Given the description of an element on the screen output the (x, y) to click on. 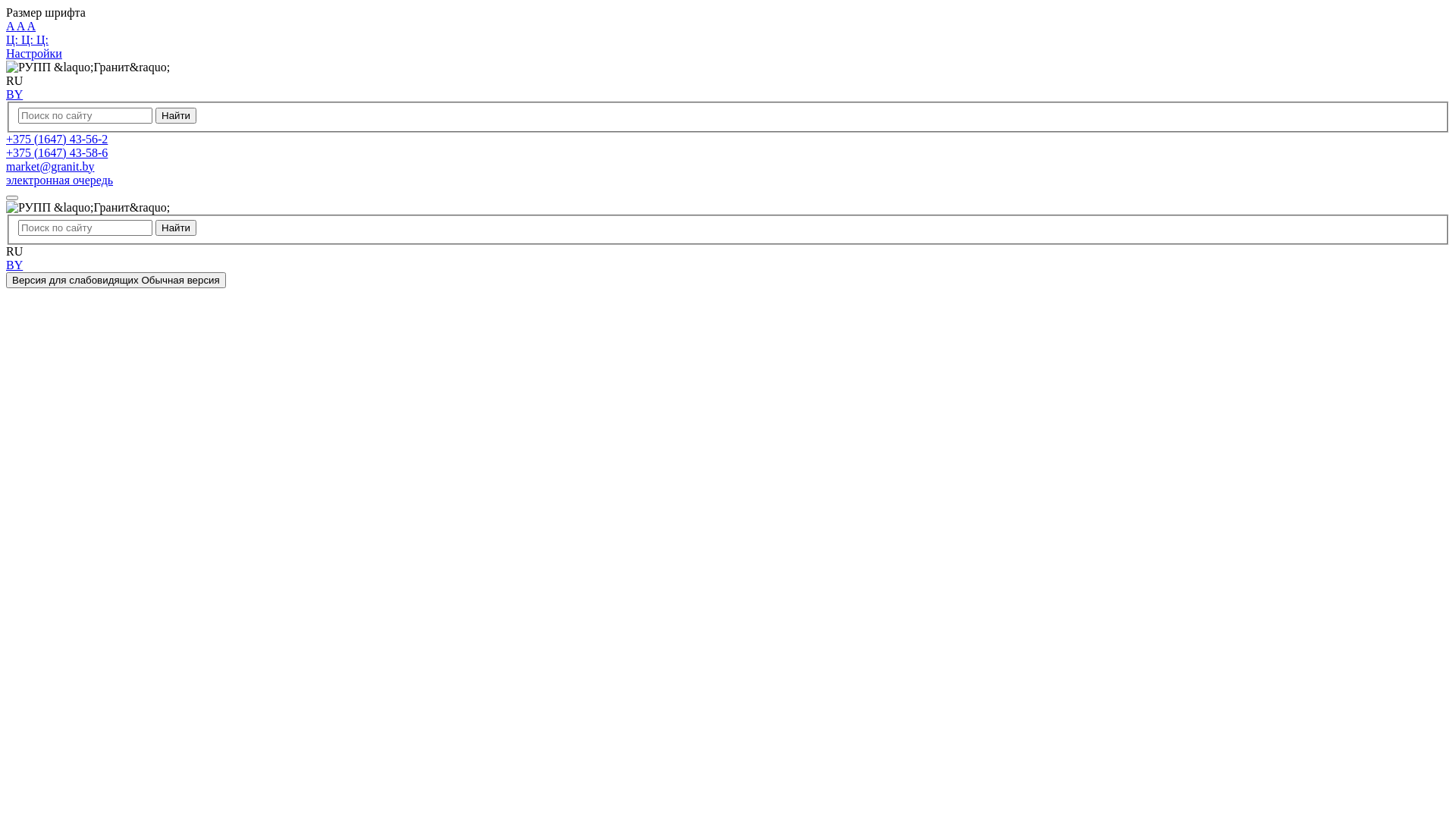
A Element type: text (31, 25)
BY Element type: text (14, 93)
market@granit.by Element type: text (50, 166)
+375 (1647) 43-56-2 Element type: text (56, 138)
A Element type: text (21, 25)
A Element type: text (11, 25)
BY Element type: text (14, 264)
+375 (1647) 43-58-6 Element type: text (56, 152)
